Given the description of an element on the screen output the (x, y) to click on. 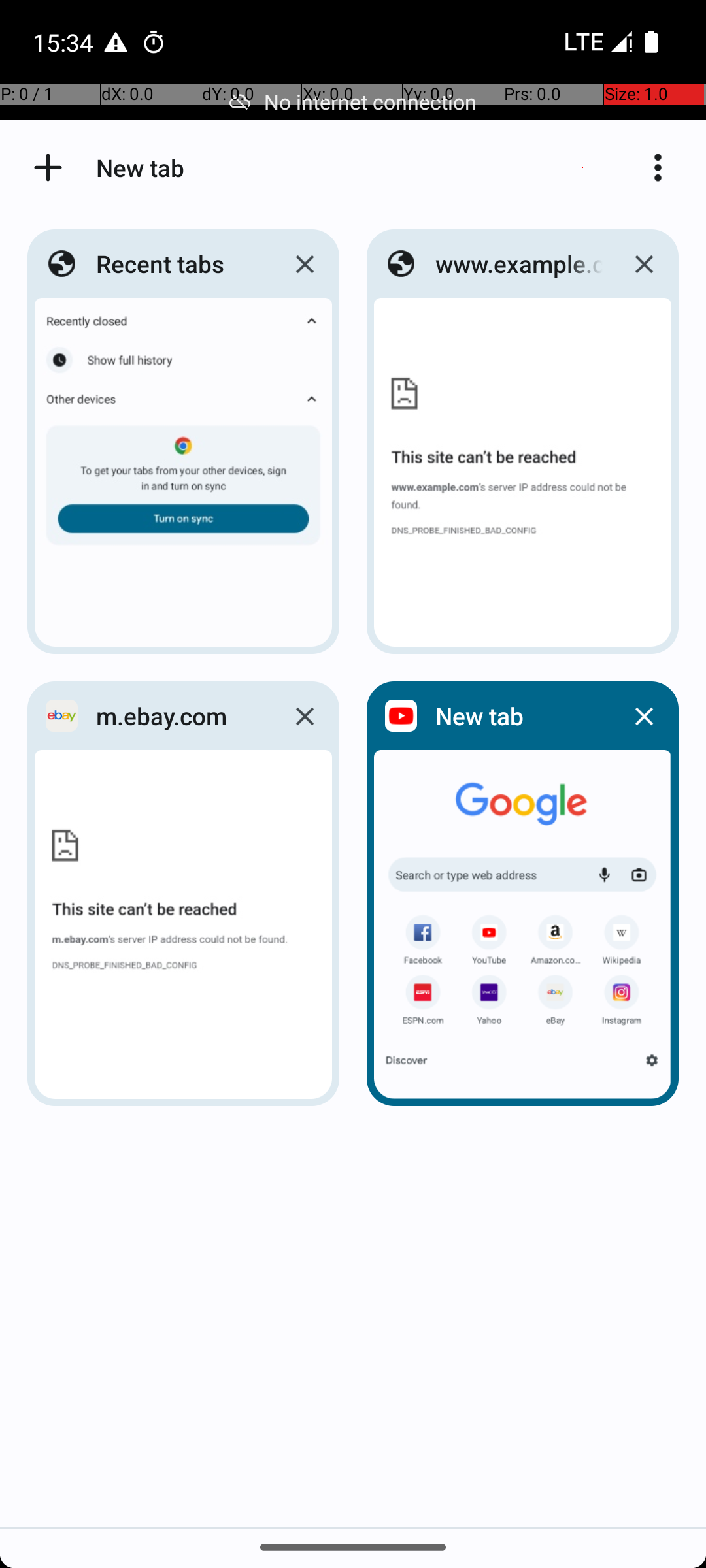
Recent tabs Element type: android.widget.TextView (179, 263)
Close Recent tabs tab Element type: android.widget.ImageView (304, 263)
www.example.com Element type: android.widget.TextView (518, 263)
Close www.example.com tab Element type: android.widget.ImageView (643, 263)
m.ebay.com Element type: android.widget.TextView (179, 715)
Close m.ebay.com tab Element type: android.widget.ImageView (304, 715)
New tab Element type: android.widget.TextView (518, 715)
Close New tab tab Element type: android.widget.ImageView (643, 715)
